Given the description of an element on the screen output the (x, y) to click on. 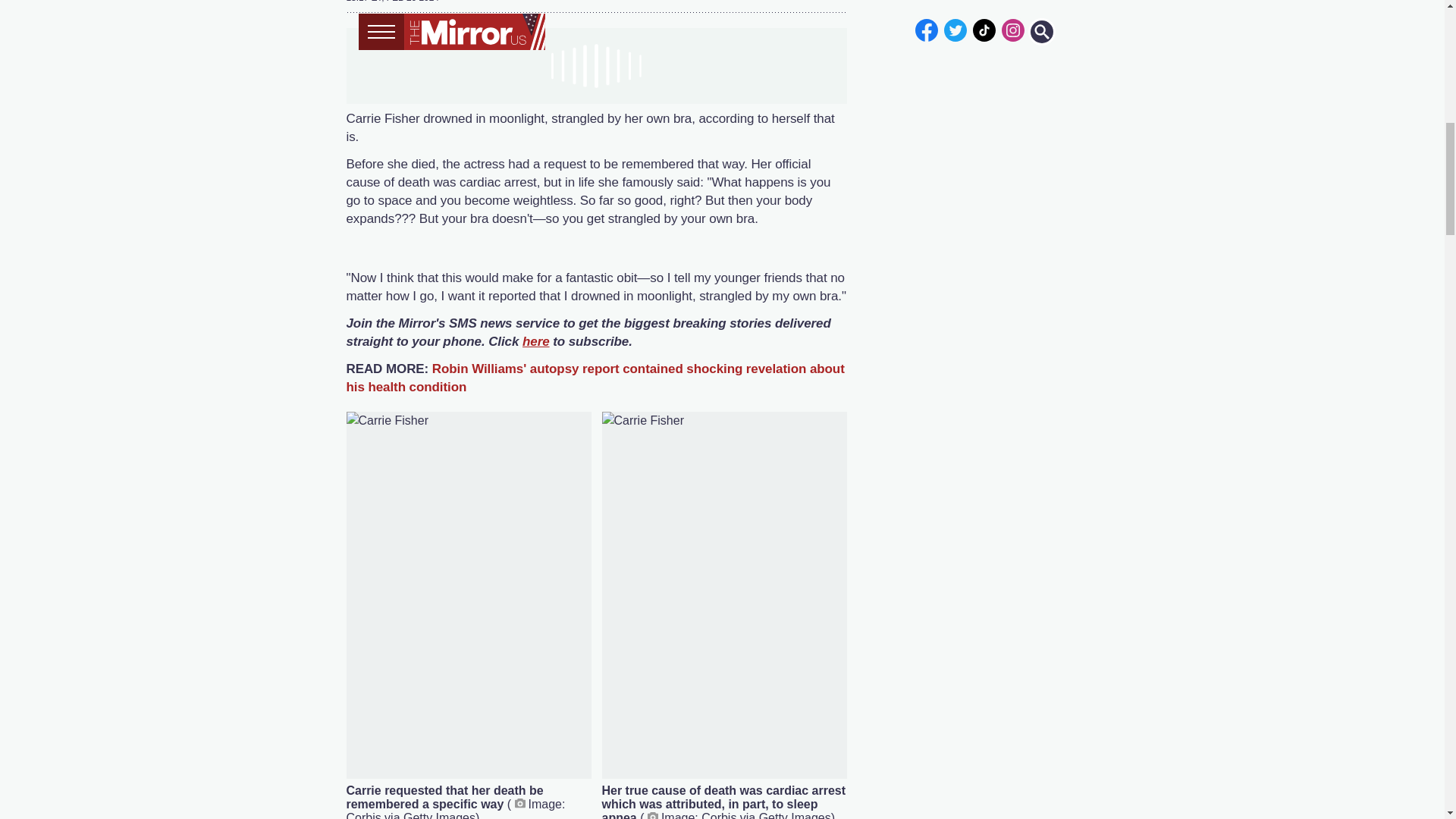
here (536, 341)
